Given the description of an element on the screen output the (x, y) to click on. 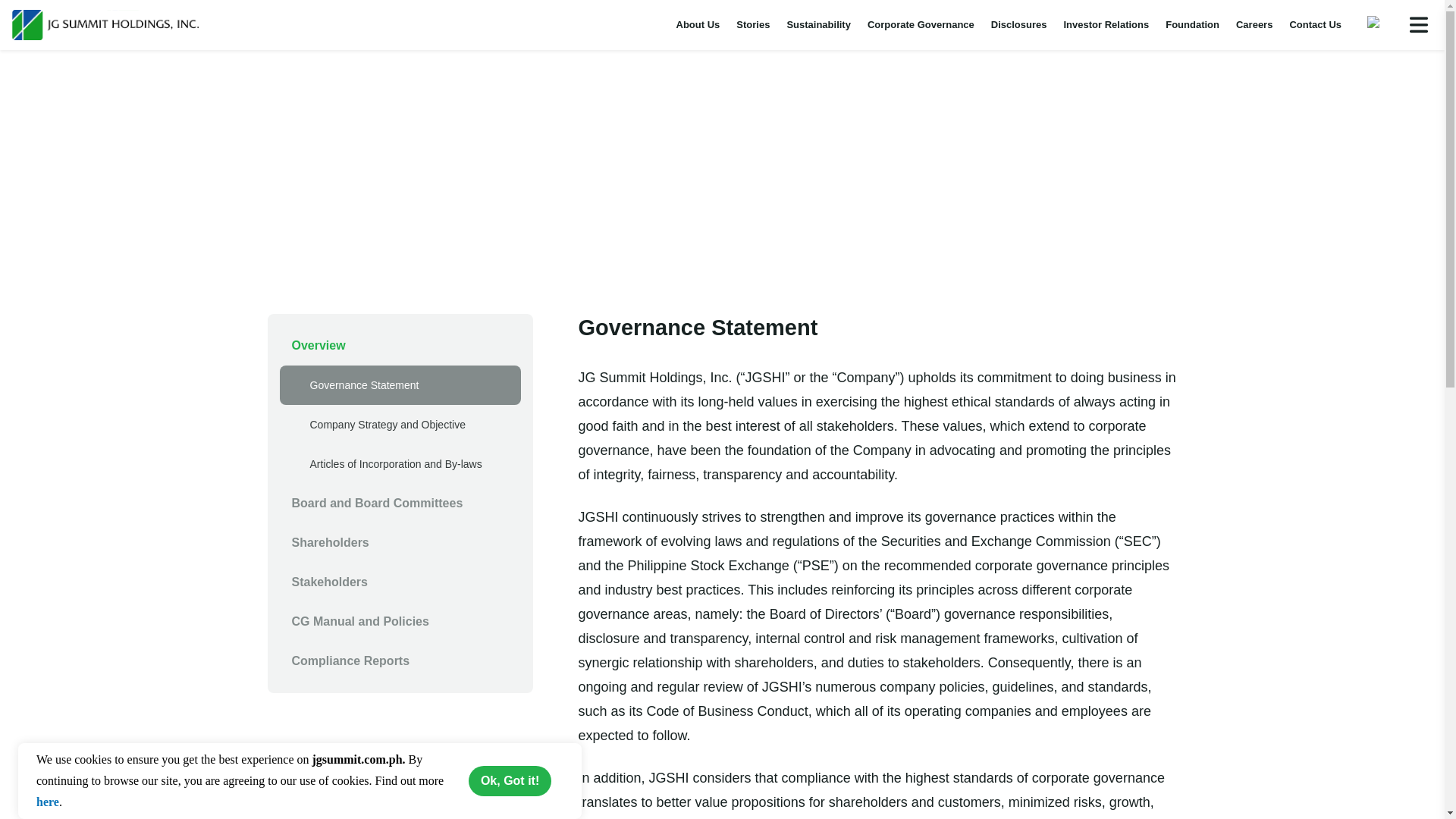
Investor Relations (1105, 24)
Sustainability (818, 24)
Careers (1254, 24)
Corporate Governance (920, 24)
Stories (753, 24)
About Us (697, 24)
Privacy Statement (47, 801)
Foundation (1191, 24)
Contact Us (1315, 24)
Disclosures (1018, 24)
